Given the description of an element on the screen output the (x, y) to click on. 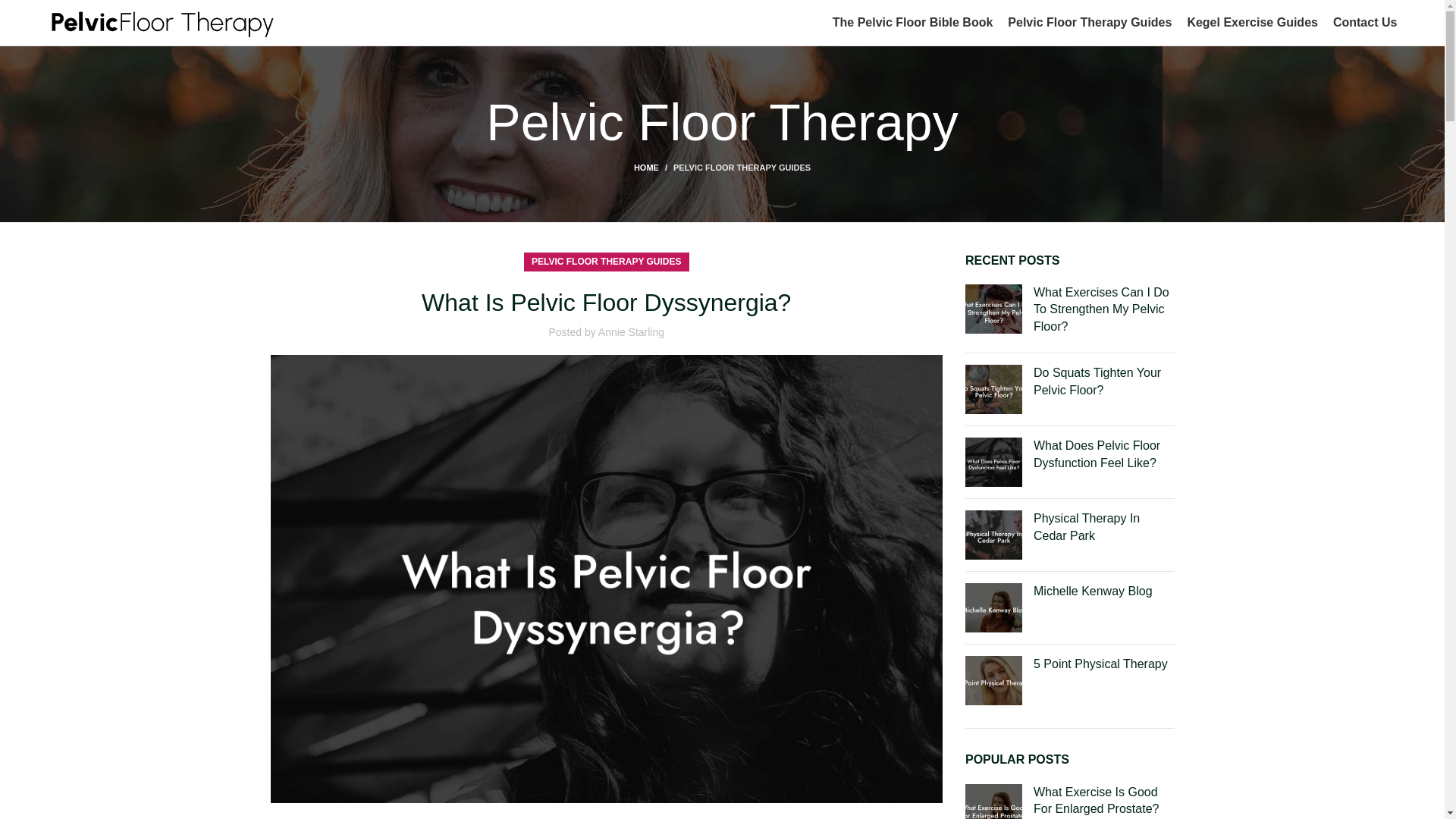
Annie Starling (630, 331)
Contact Us (1364, 22)
PELVIC FLOOR THERAPY GUIDES (606, 261)
Pelvic Floor Therapy Guides (1089, 22)
The Pelvic Floor Bible Book (912, 22)
Kegel Exercise Guides (1251, 22)
PELVIC FLOOR THERAPY GUIDES (741, 166)
HOME (652, 167)
